Given the description of an element on the screen output the (x, y) to click on. 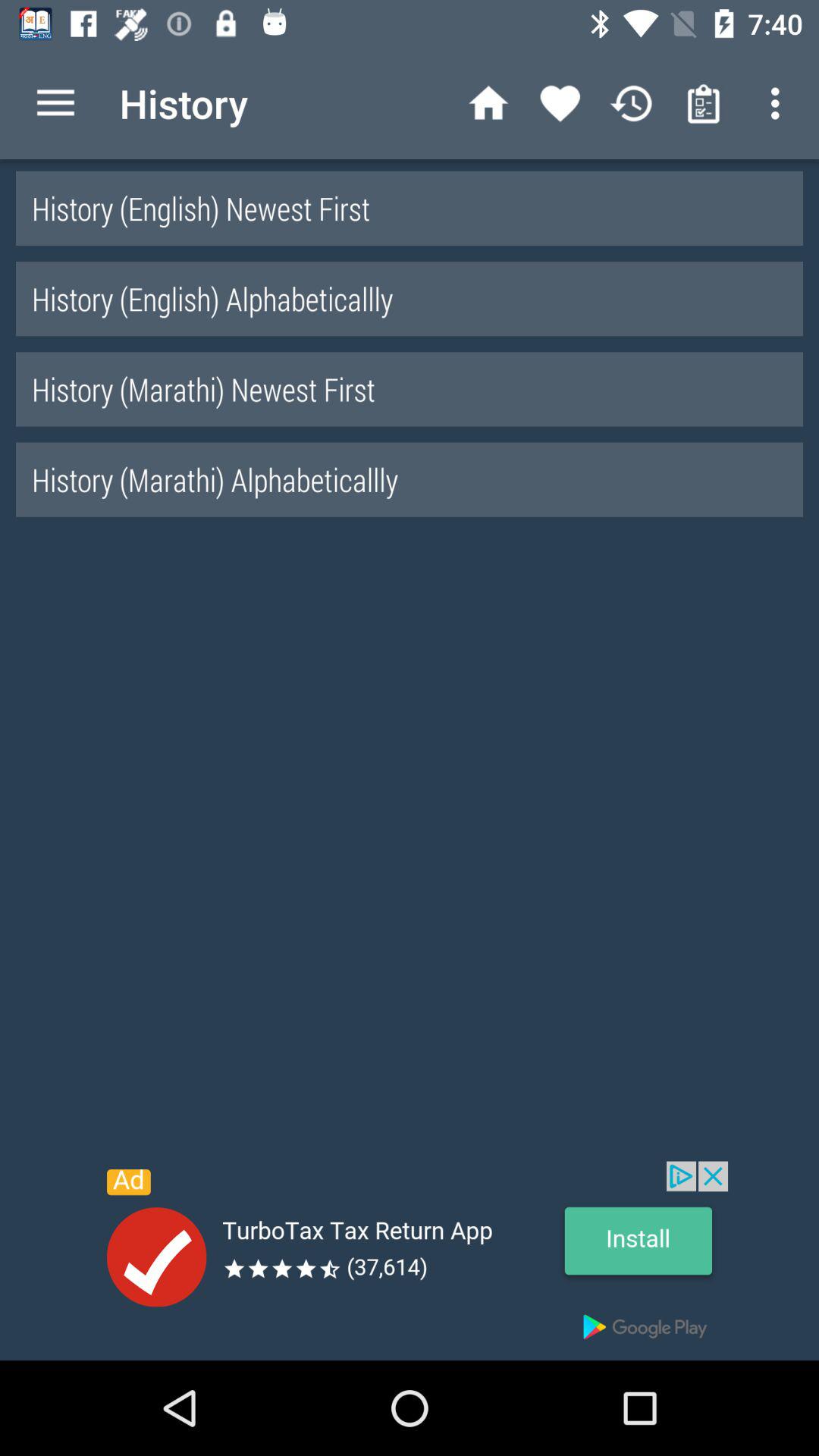
advertisement page (409, 1260)
